Given the description of an element on the screen output the (x, y) to click on. 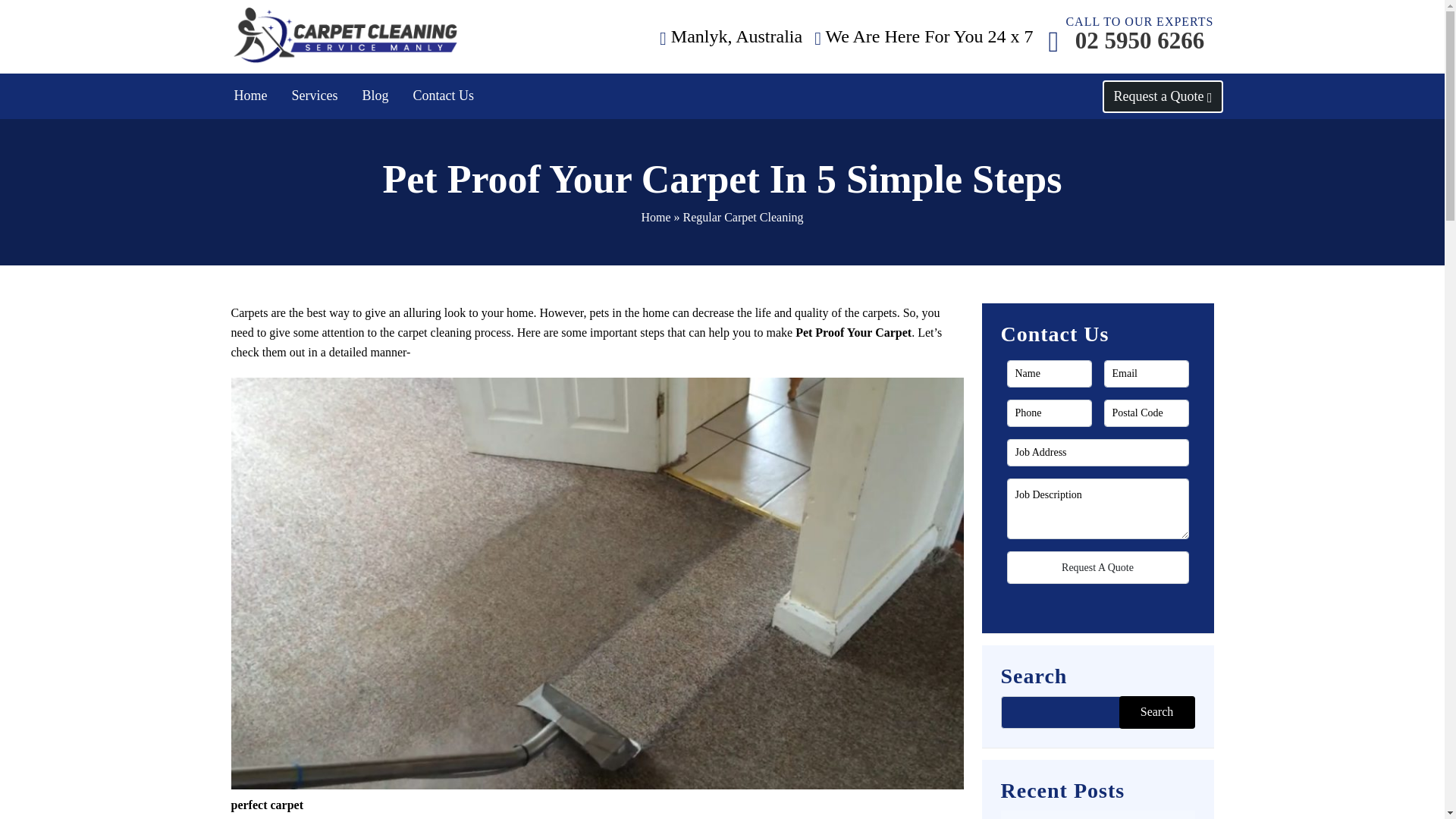
Home (654, 216)
Services (315, 95)
Home (250, 95)
Blog (374, 95)
Search (1157, 712)
Request A Quote (1138, 40)
Contact Us (1098, 567)
Search (443, 95)
Request A Quote (1157, 712)
Request a Quote (1098, 567)
